Given the description of an element on the screen output the (x, y) to click on. 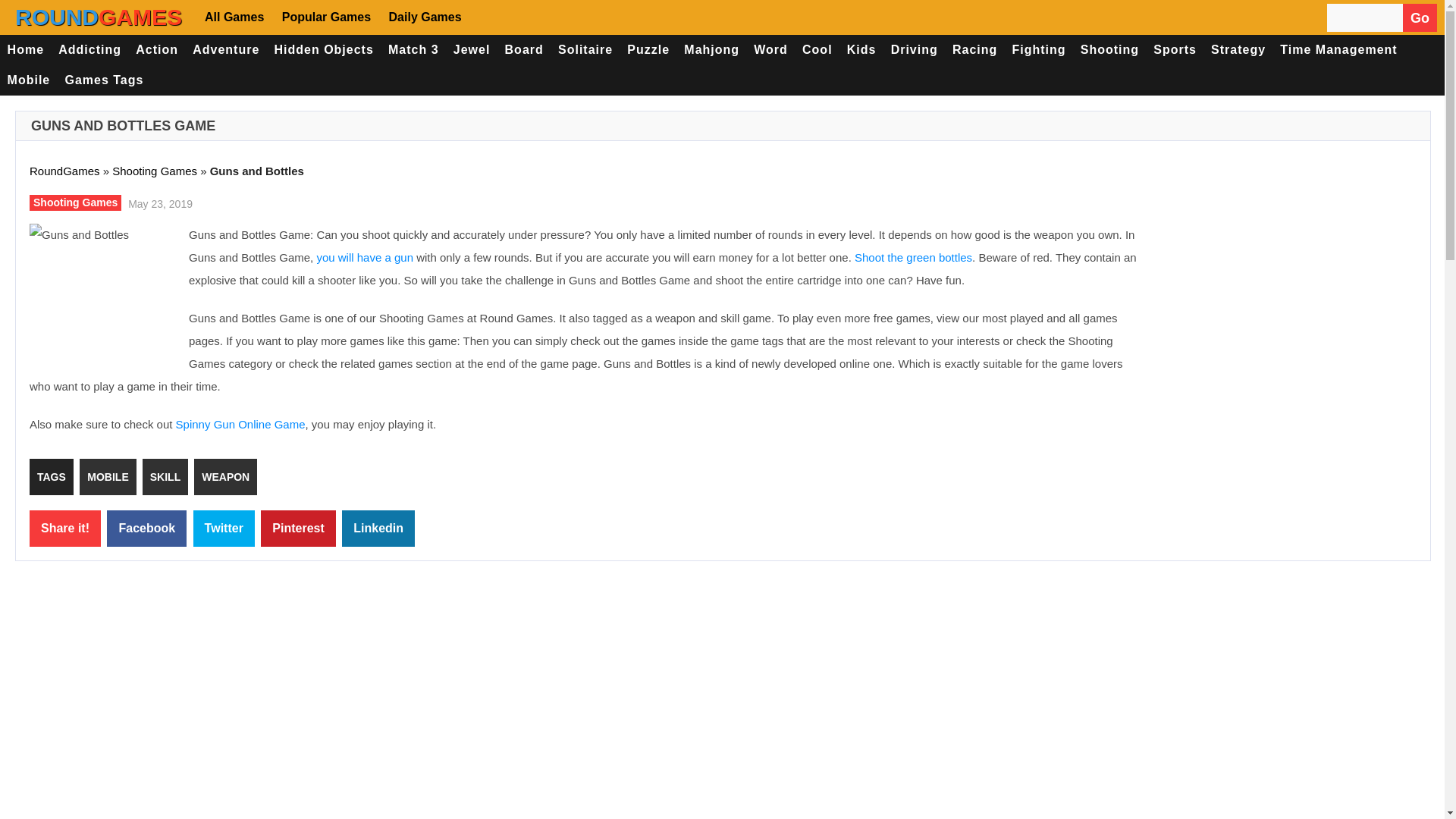
Addicting (89, 50)
Adventure (226, 50)
Hidden Objects (323, 50)
Daily Games (423, 16)
Our YouTube Channel (581, 17)
Action (157, 50)
Follow us on Facebook (491, 17)
Popular Games (324, 16)
Follow us on Twitter (536, 17)
Play Free Online Games No Downloads at RoundGames (98, 17)
